Given the description of an element on the screen output the (x, y) to click on. 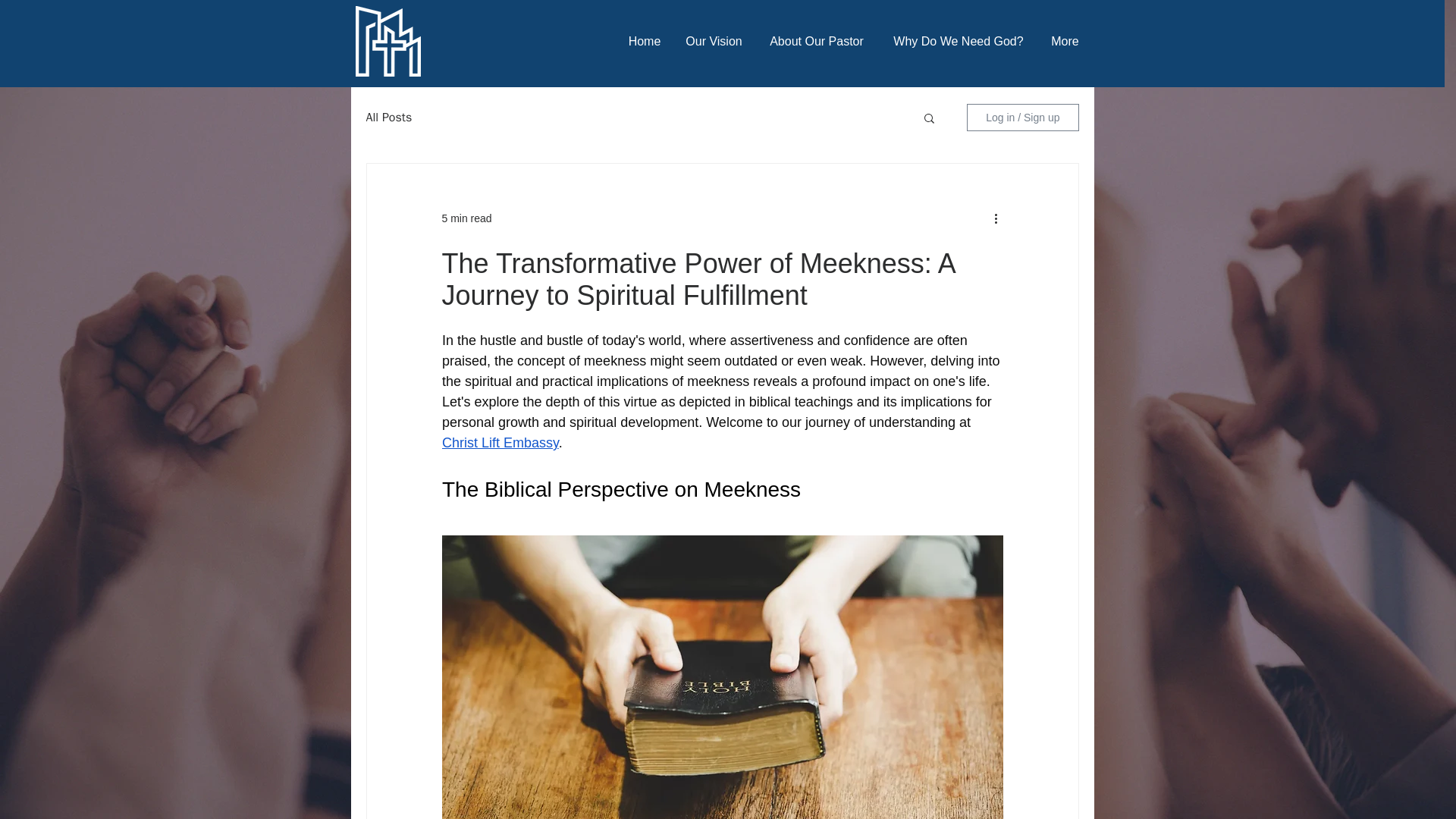
Christ Lift Embassy (499, 442)
5 min read (466, 218)
All Posts (388, 116)
Home (643, 41)
Our Vision (713, 41)
Why Do We Need God? (957, 41)
About Our Pastor (817, 41)
